Given the description of an element on the screen output the (x, y) to click on. 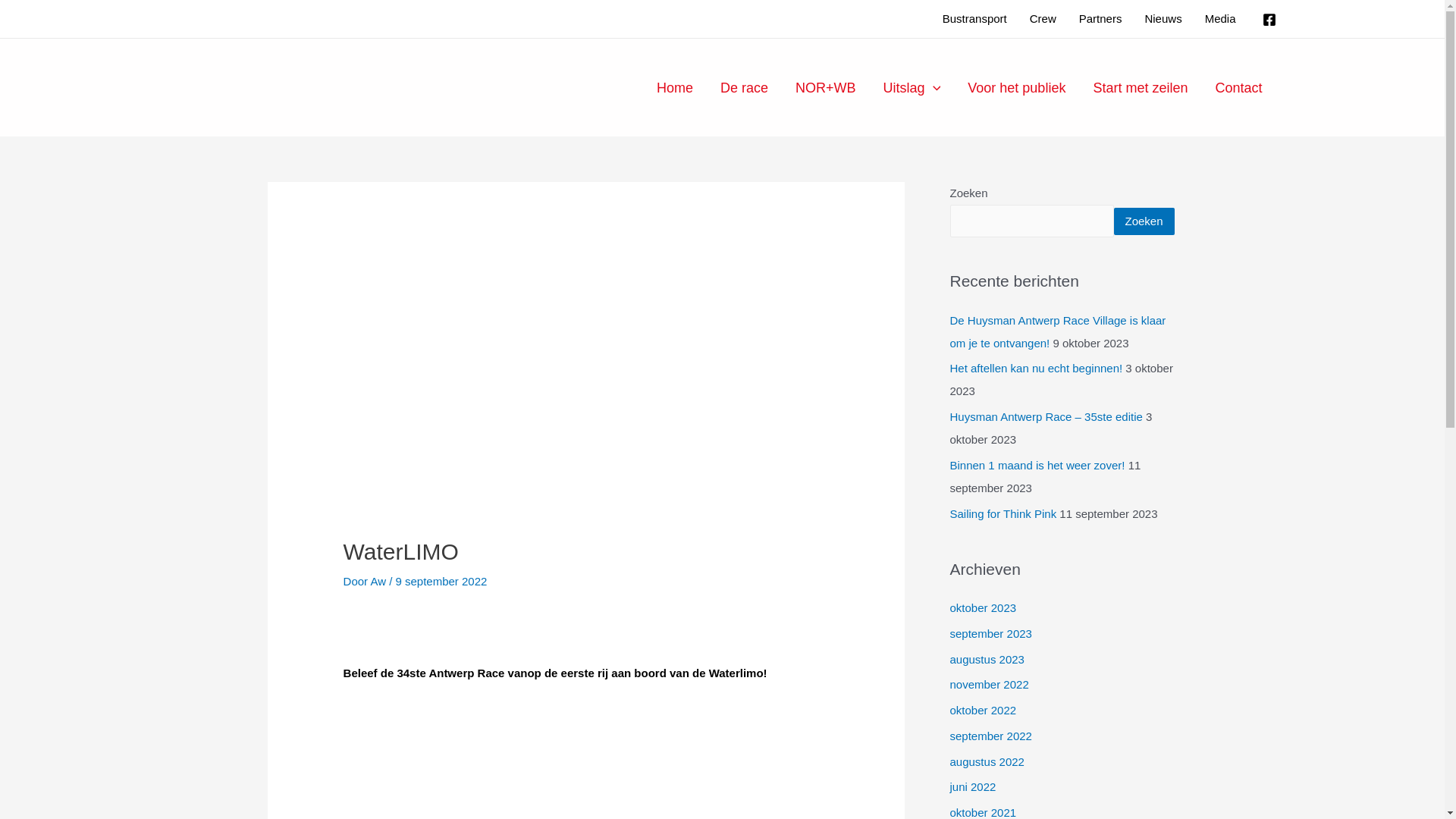
oktober 2022 Element type: text (982, 709)
augustus 2023 Element type: text (986, 658)
De race Element type: text (743, 86)
Crew Element type: text (1042, 18)
NOR+WB Element type: text (825, 86)
Partners Element type: text (1100, 18)
september 2022 Element type: text (990, 735)
september 2023 Element type: text (990, 633)
Binnen 1 maand is het weer zover! Element type: text (1036, 464)
Start met zeilen Element type: text (1140, 86)
Contact Element type: text (1238, 86)
De Huysman Antwerp Race Village is klaar om je te ontvangen! Element type: text (1057, 331)
juni 2022 Element type: text (972, 786)
november 2022 Element type: text (988, 683)
Aw Element type: text (379, 580)
oktober 2023 Element type: text (982, 607)
Sailing for Think Pink Element type: text (1002, 512)
Zoeken Element type: text (1143, 221)
Home Element type: text (674, 86)
Het aftellen kan nu echt beginnen! Element type: text (1035, 367)
Bustransport Element type: text (974, 18)
augustus 2022 Element type: text (986, 761)
Voor het publiek Element type: text (1016, 86)
Media Element type: text (1220, 18)
Uitslag Element type: text (911, 86)
Nieuws Element type: text (1162, 18)
